Given the description of an element on the screen output the (x, y) to click on. 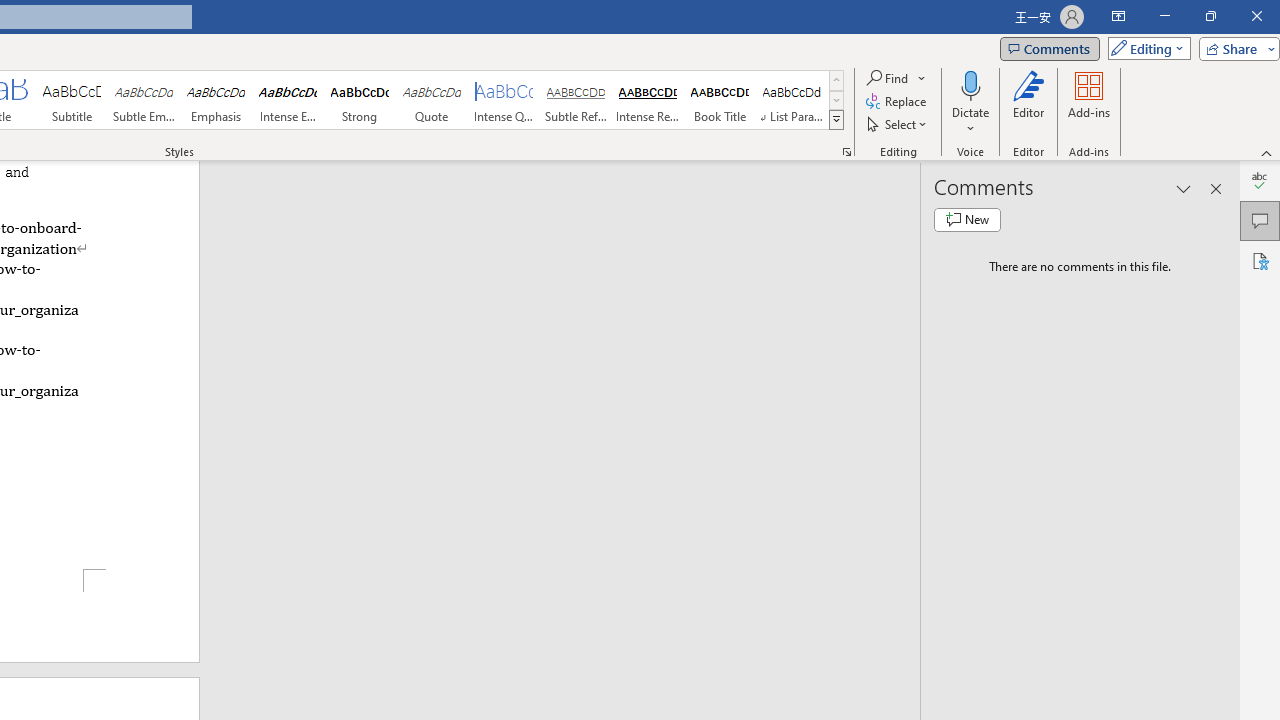
Row up (836, 79)
Subtitle (71, 100)
Accessibility (1260, 260)
Editor (1028, 102)
New comment (967, 219)
Quote (431, 100)
